Given the description of an element on the screen output the (x, y) to click on. 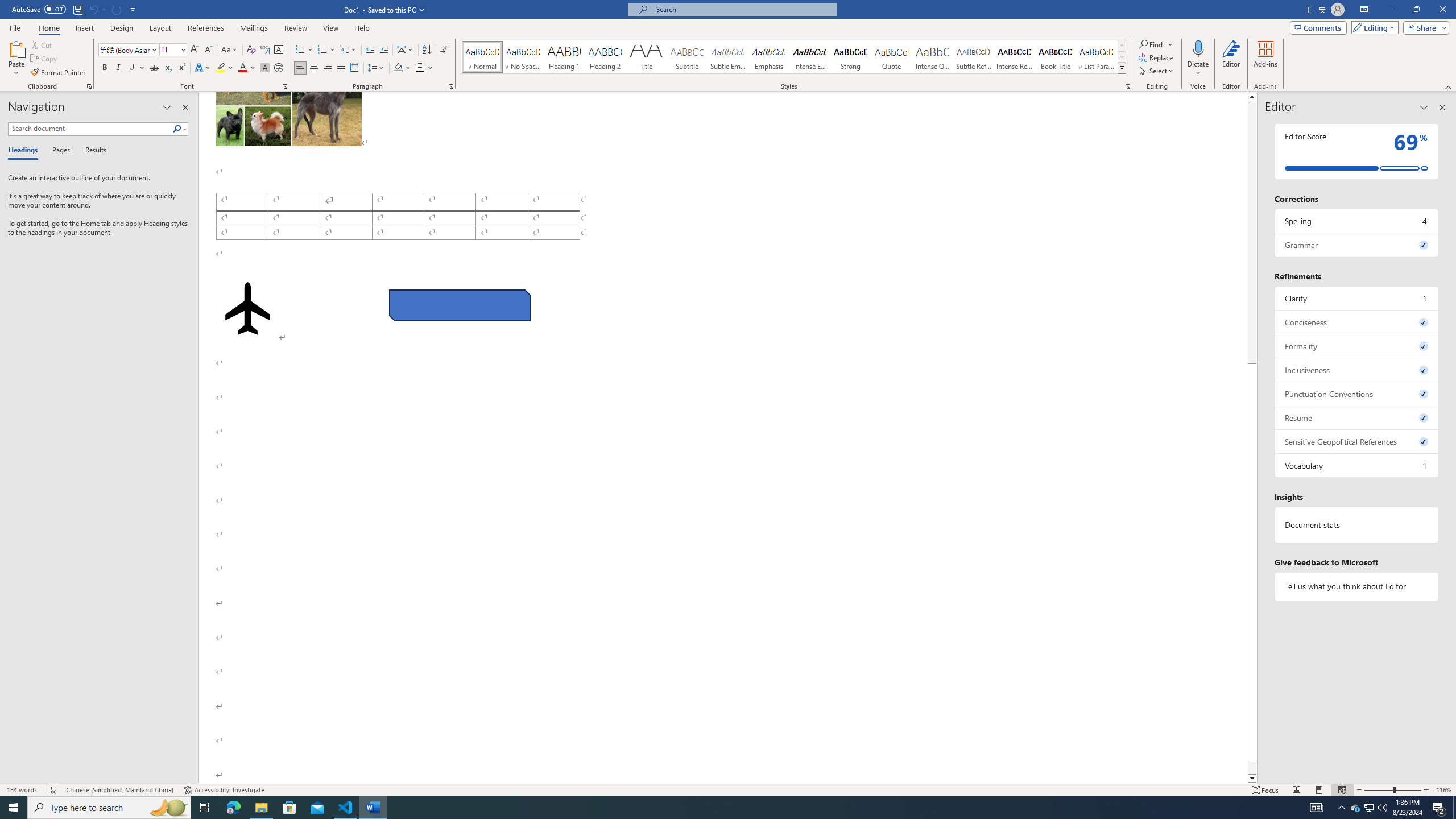
Tell us what you think about Editor (1356, 586)
Vocabulary, 1 issue. Press space or enter to review items. (1356, 465)
Document statistics (1356, 524)
